Given the description of an element on the screen output the (x, y) to click on. 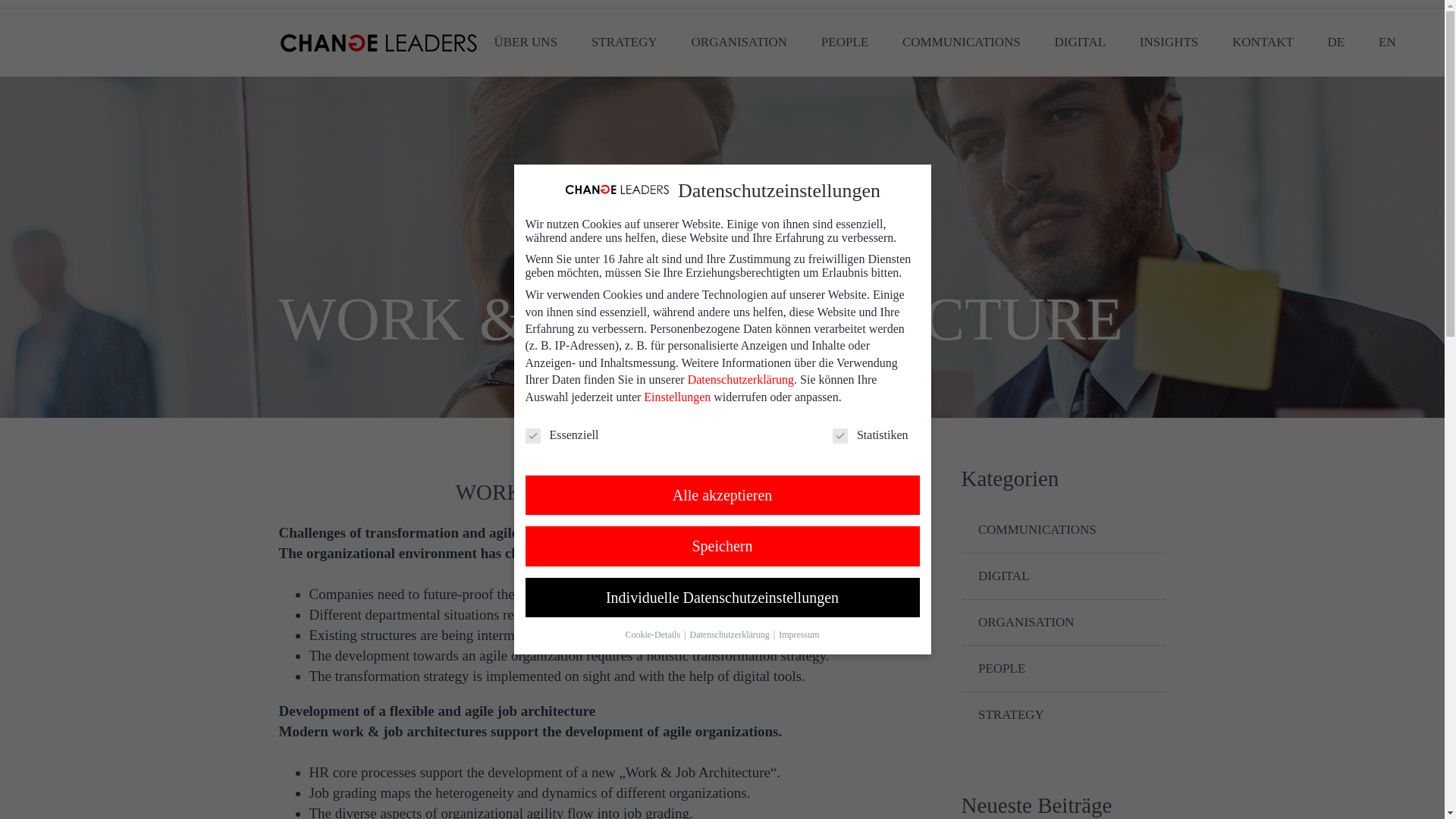
ORGANISATION (740, 42)
View all posts filed under Organisation (1026, 622)
View all posts filed under People (1001, 667)
PEOPLE (844, 42)
View all posts filed under Digital (1003, 575)
STRATEGY (624, 42)
View all posts filed under Strategy (1010, 714)
View all posts filed under Communications (1037, 529)
